Given the description of an element on the screen output the (x, y) to click on. 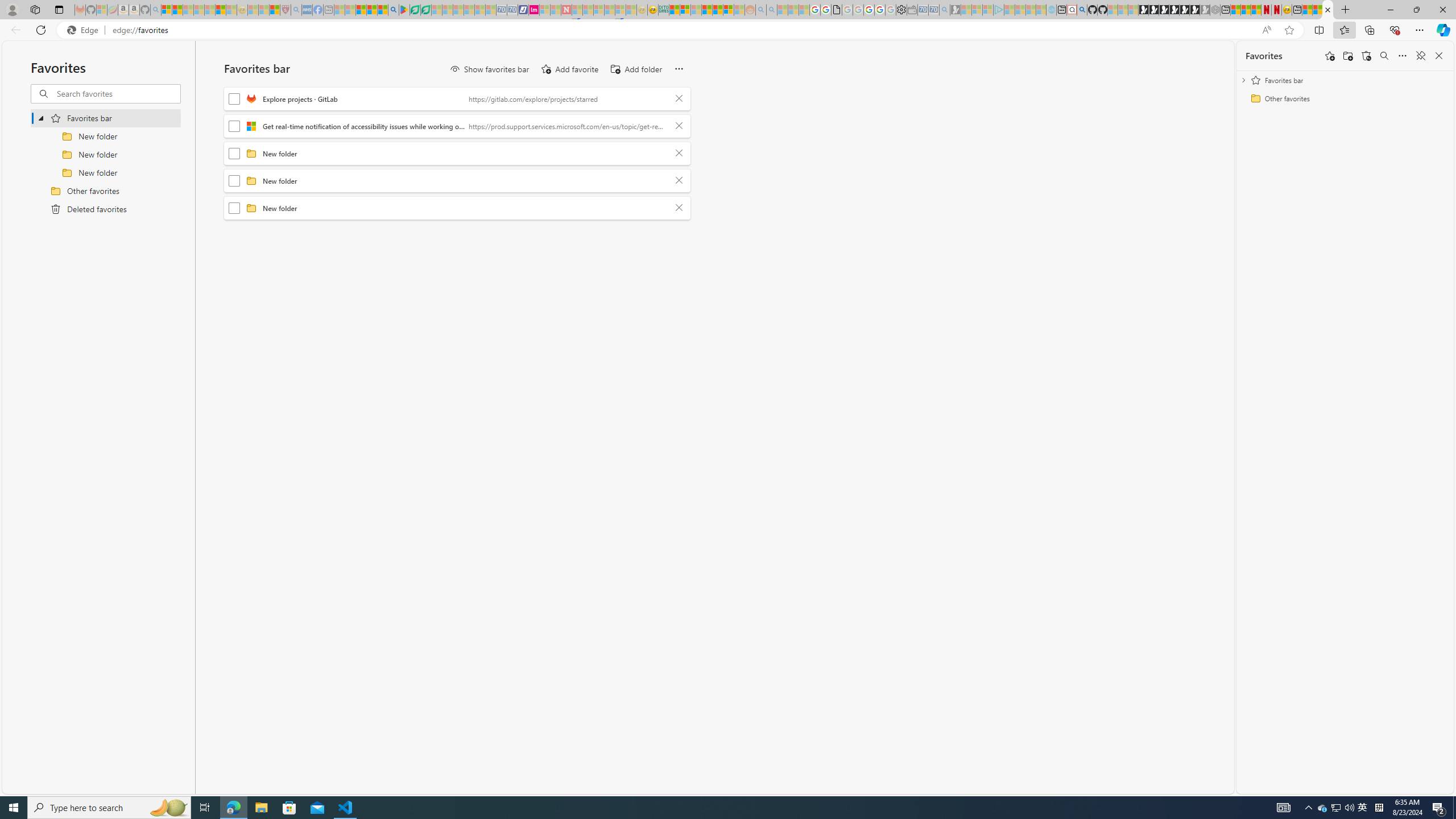
Search favorites (1383, 55)
New Report Confirms 2023 Was Record Hot | Watch - Sleeping (209, 9)
Trusted Community Engagement and Contributions | Guidelines (577, 9)
FolderNew folder (457, 207)
DITOGAMES AG Imprint (663, 9)
Microsoft account | Privacy - Sleeping (987, 9)
